Given the description of an element on the screen output the (x, y) to click on. 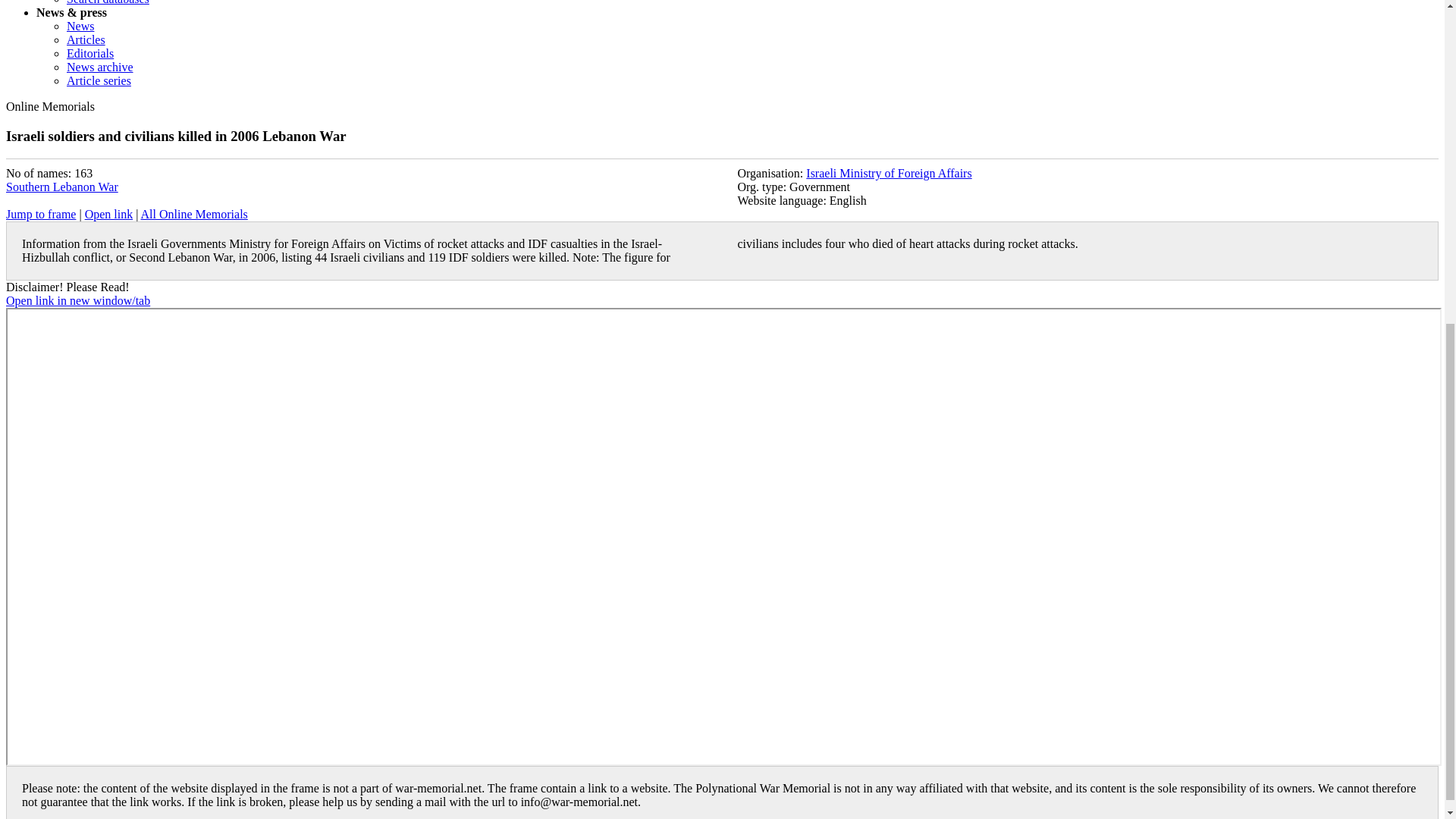
News (80, 25)
Search databases (107, 2)
Article series (98, 80)
Articles (85, 39)
News archive (99, 66)
Editorials (89, 52)
